Given the description of an element on the screen output the (x, y) to click on. 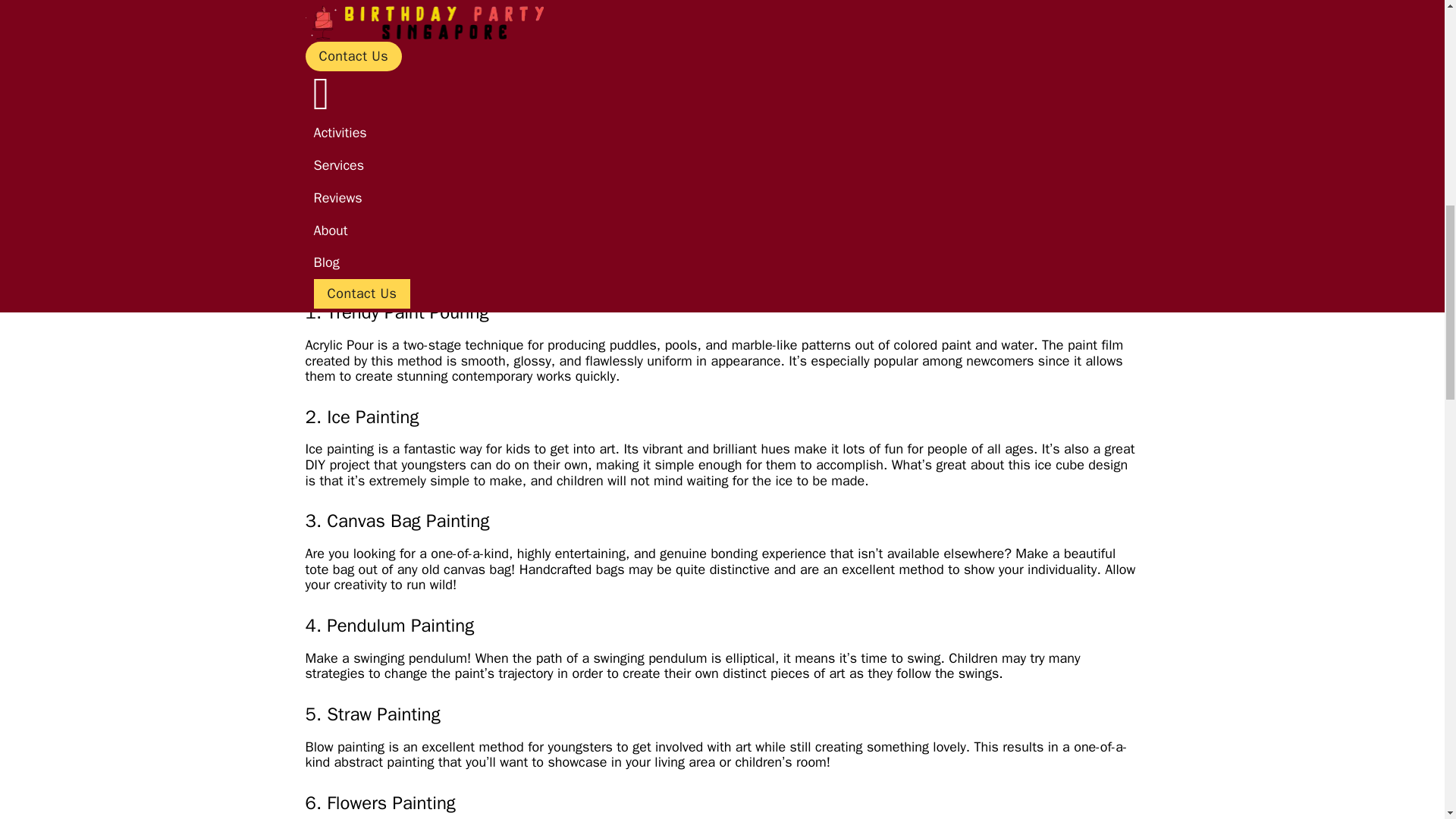
5. Straw Painting (391, 195)
3. Canvas Bag Painting (408, 156)
Art Jamming Ideas Kids (389, 96)
4. Pendulum Painting (403, 175)
2. Ice Painting (384, 135)
7. Splat Painting (390, 234)
1. Trendy Paint Pouring (408, 116)
Art Jamming Ideas Kids (389, 254)
6. Flowers Painting (397, 215)
